Given the description of an element on the screen output the (x, y) to click on. 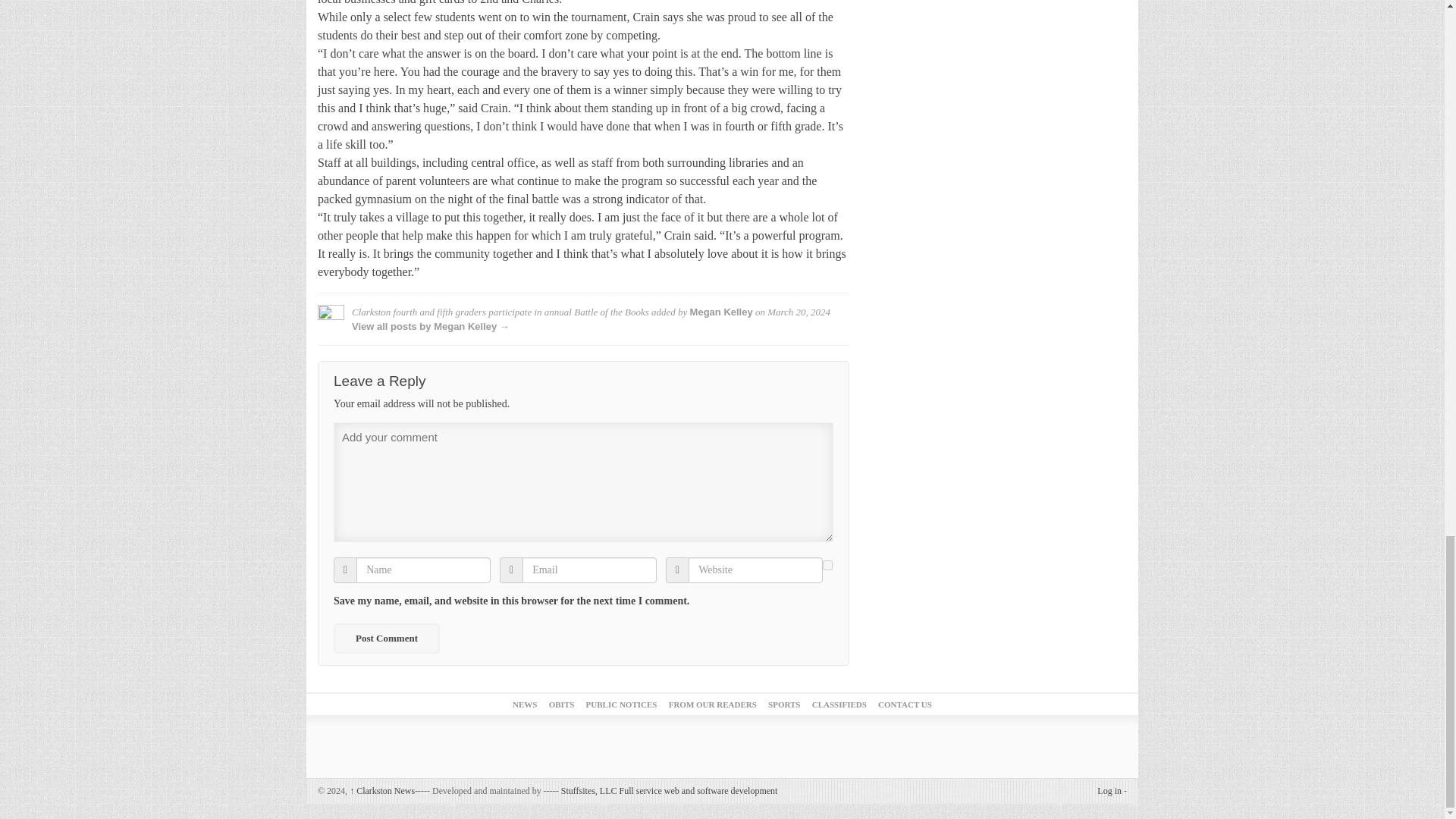
Megan Kelley (721, 311)
Post Comment (386, 638)
Post Comment (386, 638)
yes (827, 565)
